Given the description of an element on the screen output the (x, y) to click on. 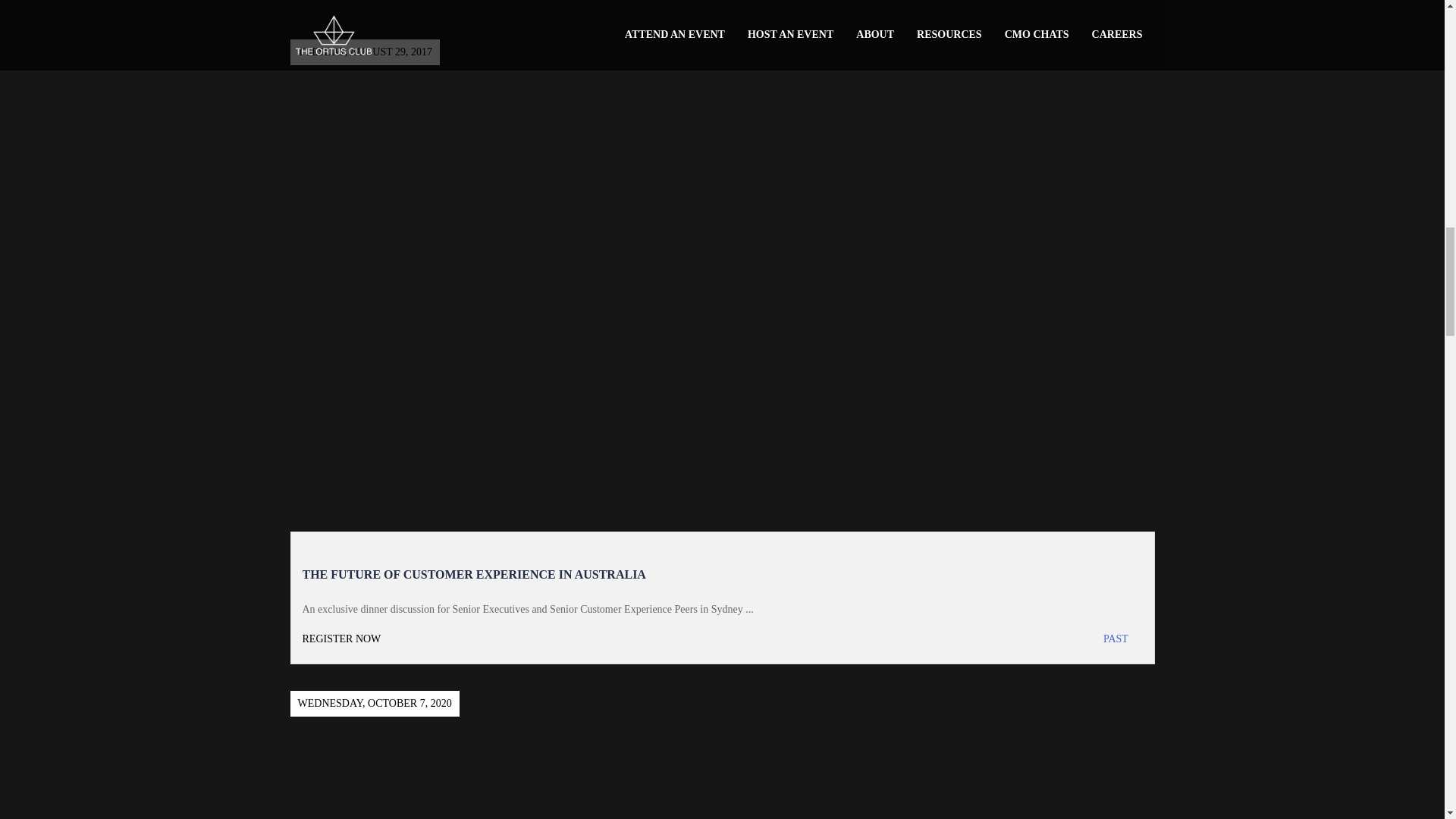
REGISTER NOW (511, 638)
THE FUTURE OF CUSTOMER EXPERIENCE IN AUSTRALIA (473, 574)
WEDNESDAY, OCTOBER 7, 2020 (721, 741)
